Given the description of an element on the screen output the (x, y) to click on. 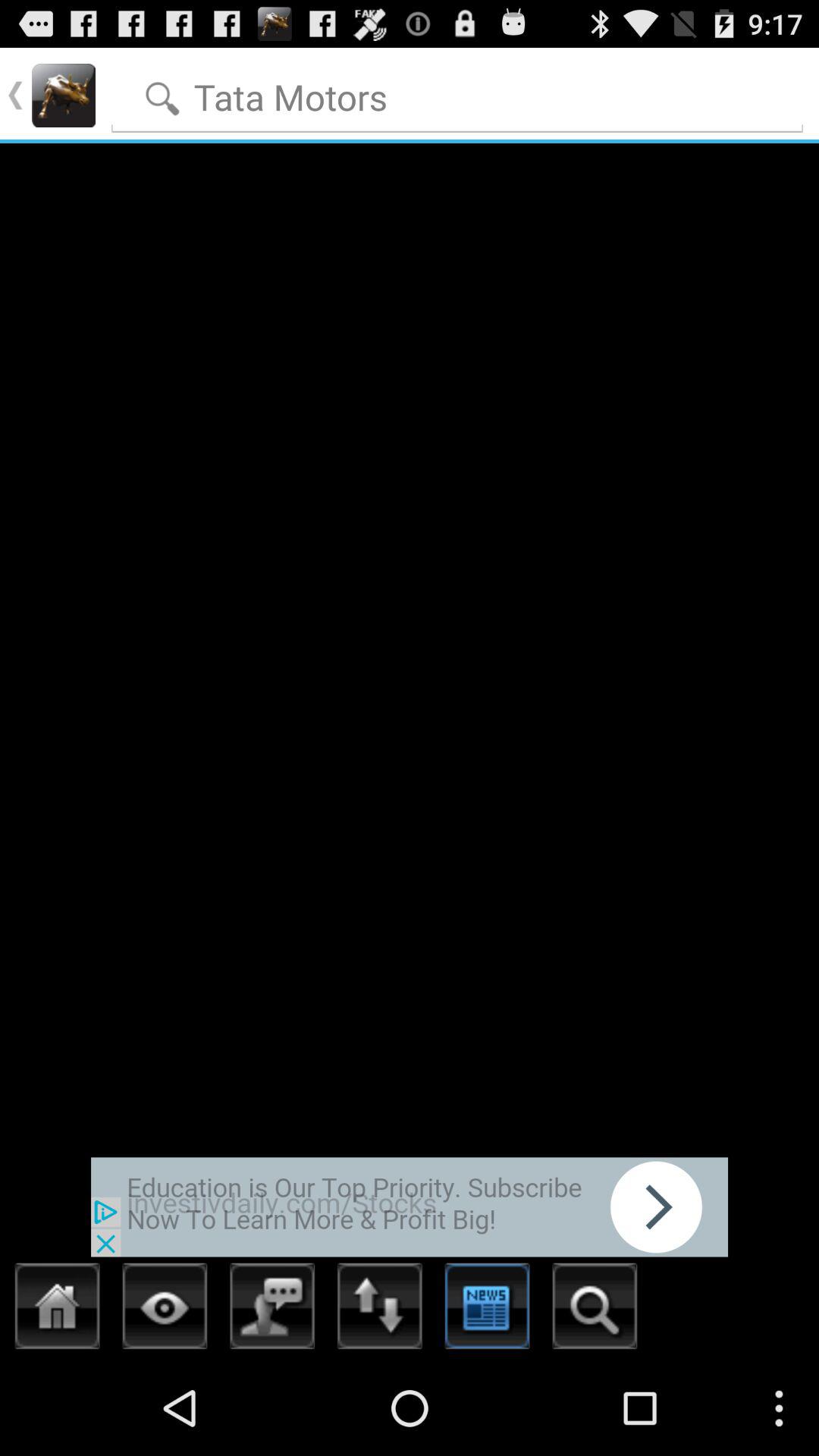
search (457, 93)
